Given the description of an element on the screen output the (x, y) to click on. 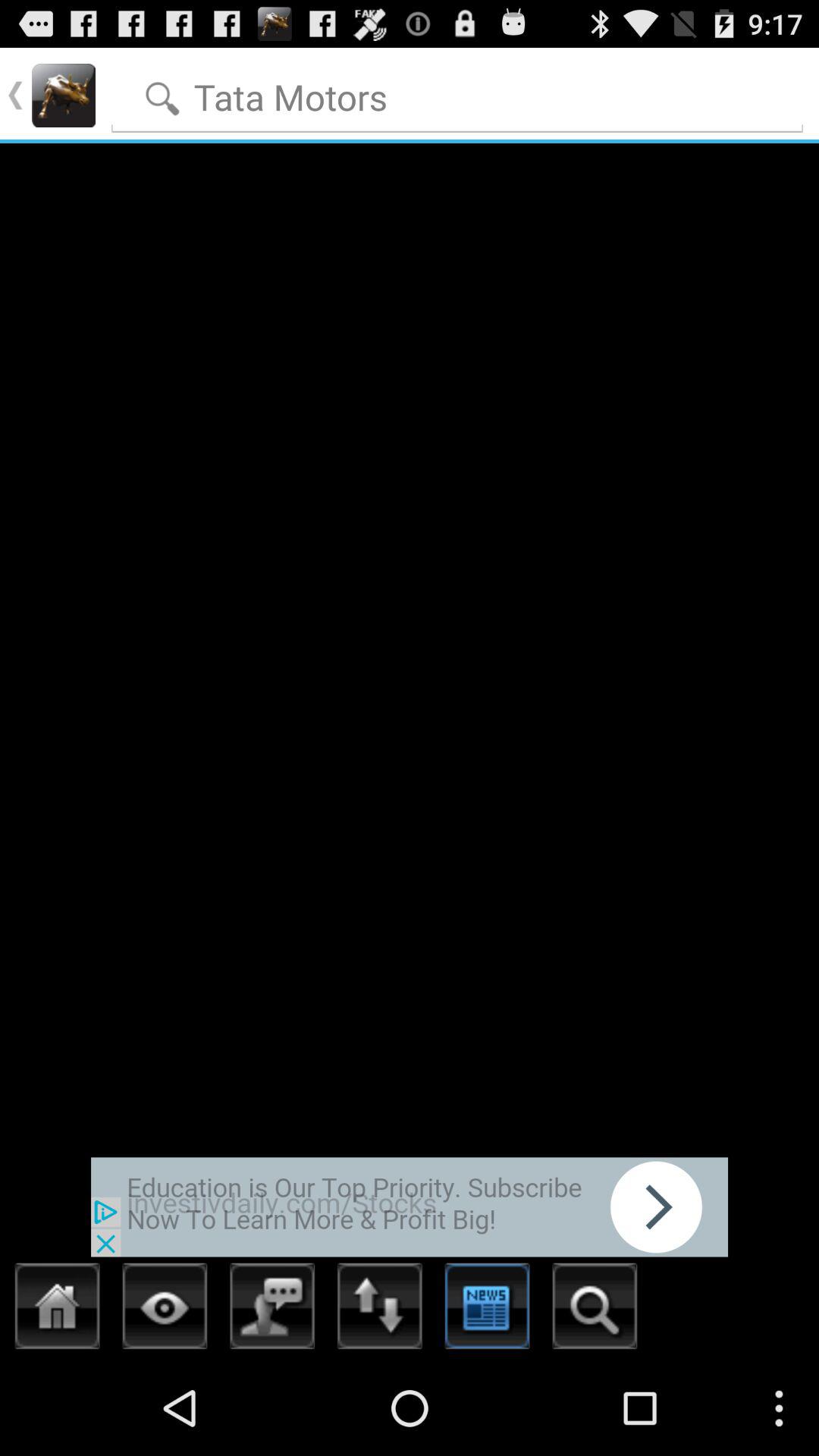
search (457, 93)
